Given the description of an element on the screen output the (x, y) to click on. 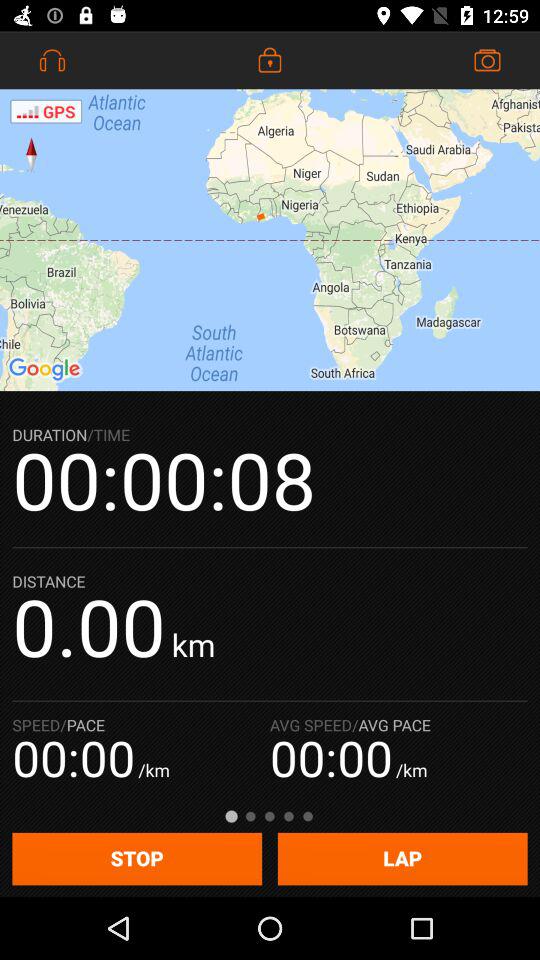
click stop item (137, 858)
